Given the description of an element on the screen output the (x, y) to click on. 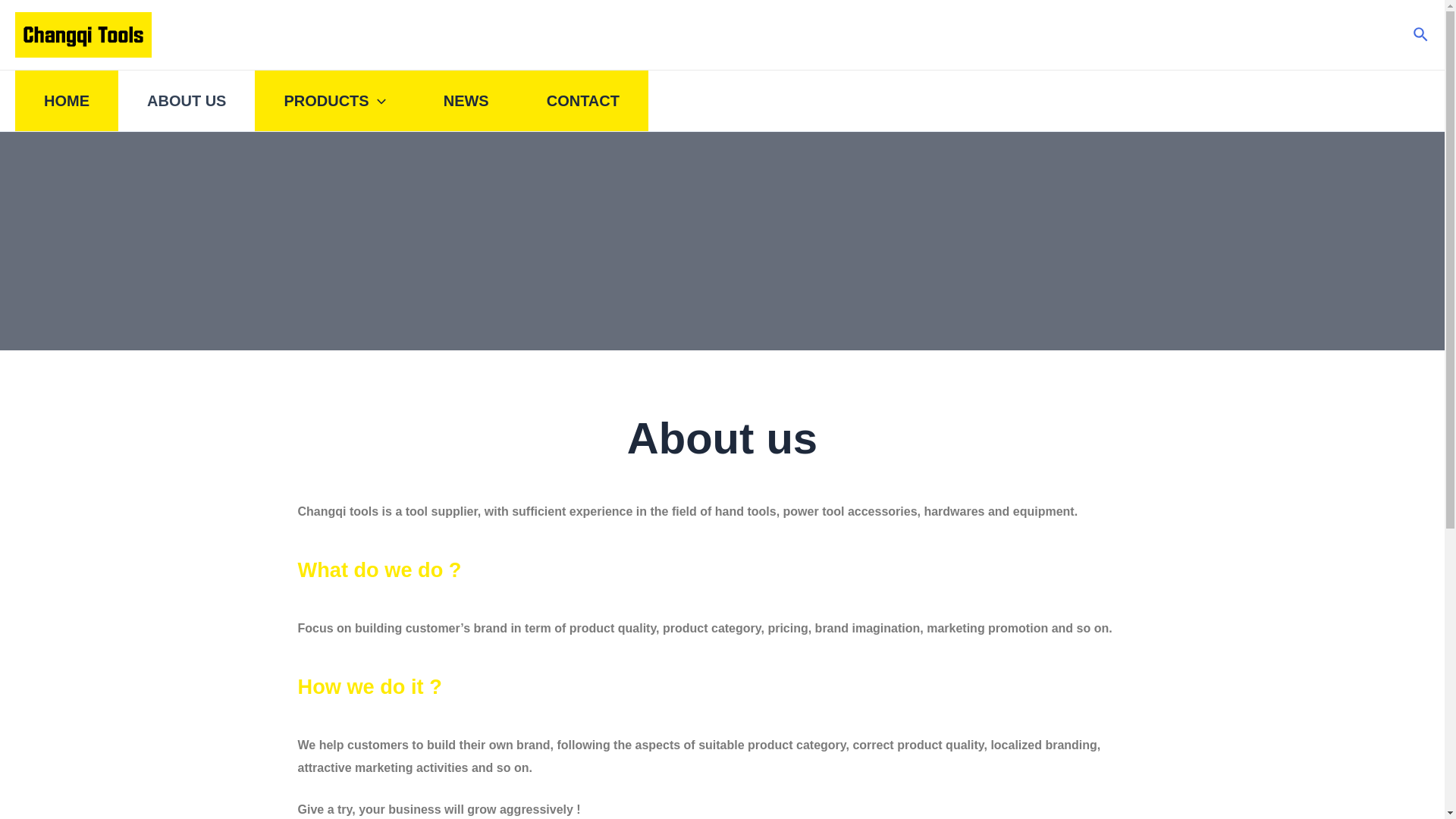
NEWS (466, 100)
HOME (65, 100)
CONTACT (582, 100)
PRODUCTS (333, 100)
ABOUT US (185, 100)
